Given the description of an element on the screen output the (x, y) to click on. 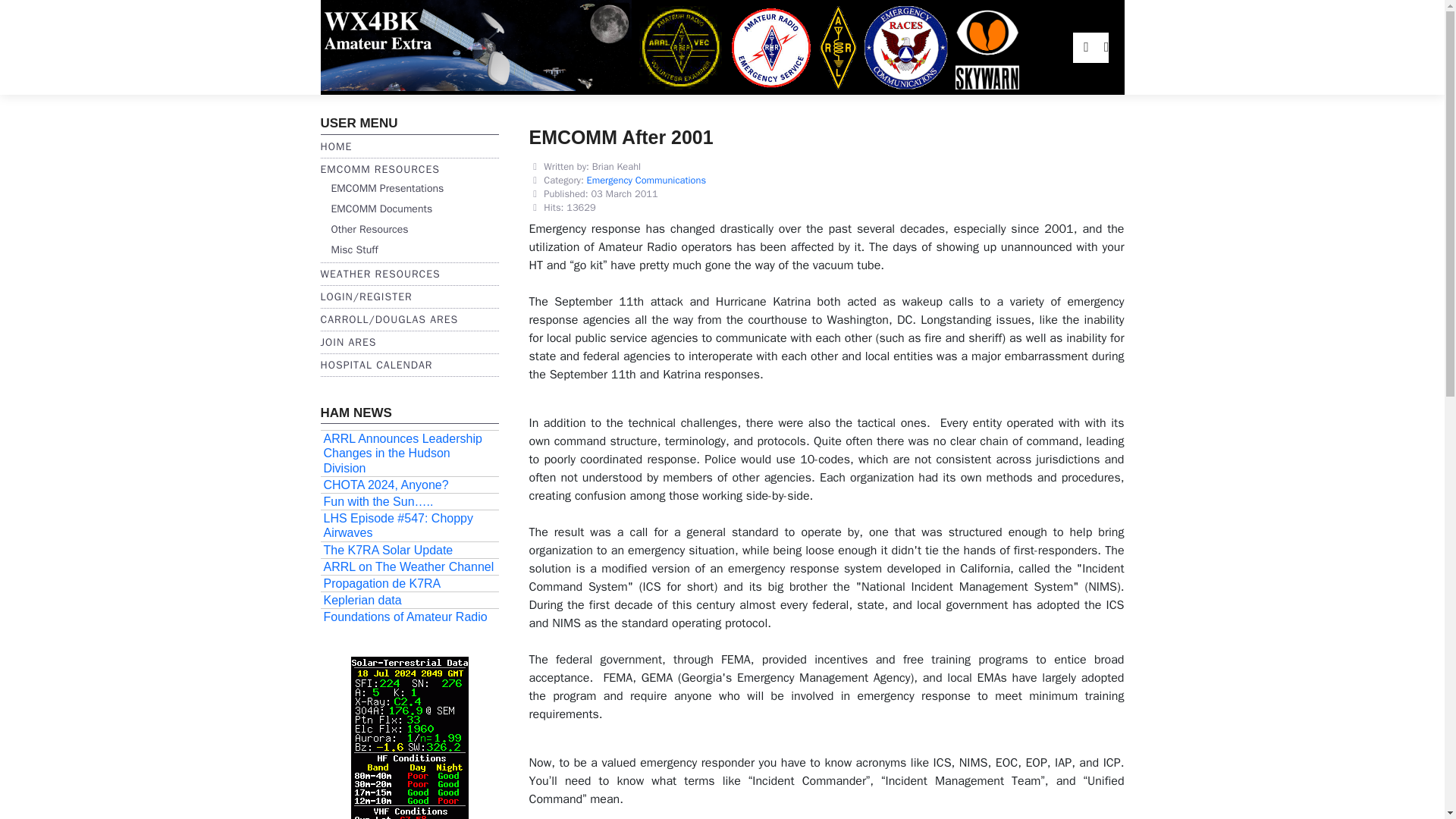
Foundations of Amateur Radio (409, 616)
Keplerian data (409, 599)
ARRL on The Weather Channel (409, 566)
ARRL Announces Leadership Changes in the Hudson Division (409, 453)
EMCOMM Presentations (387, 187)
WEATHER RESOURCES (379, 273)
EMCOMM RESOURCES (379, 169)
EMCOMM Documents (381, 208)
CHOTA 2024, Anyone? (409, 484)
Other Resources (368, 228)
HOSPITAL CALENDAR (376, 364)
JOIN ARES (347, 341)
Propagation de K7RA (409, 583)
Misc Stuff (353, 249)
HOME (336, 146)
